Given the description of an element on the screen output the (x, y) to click on. 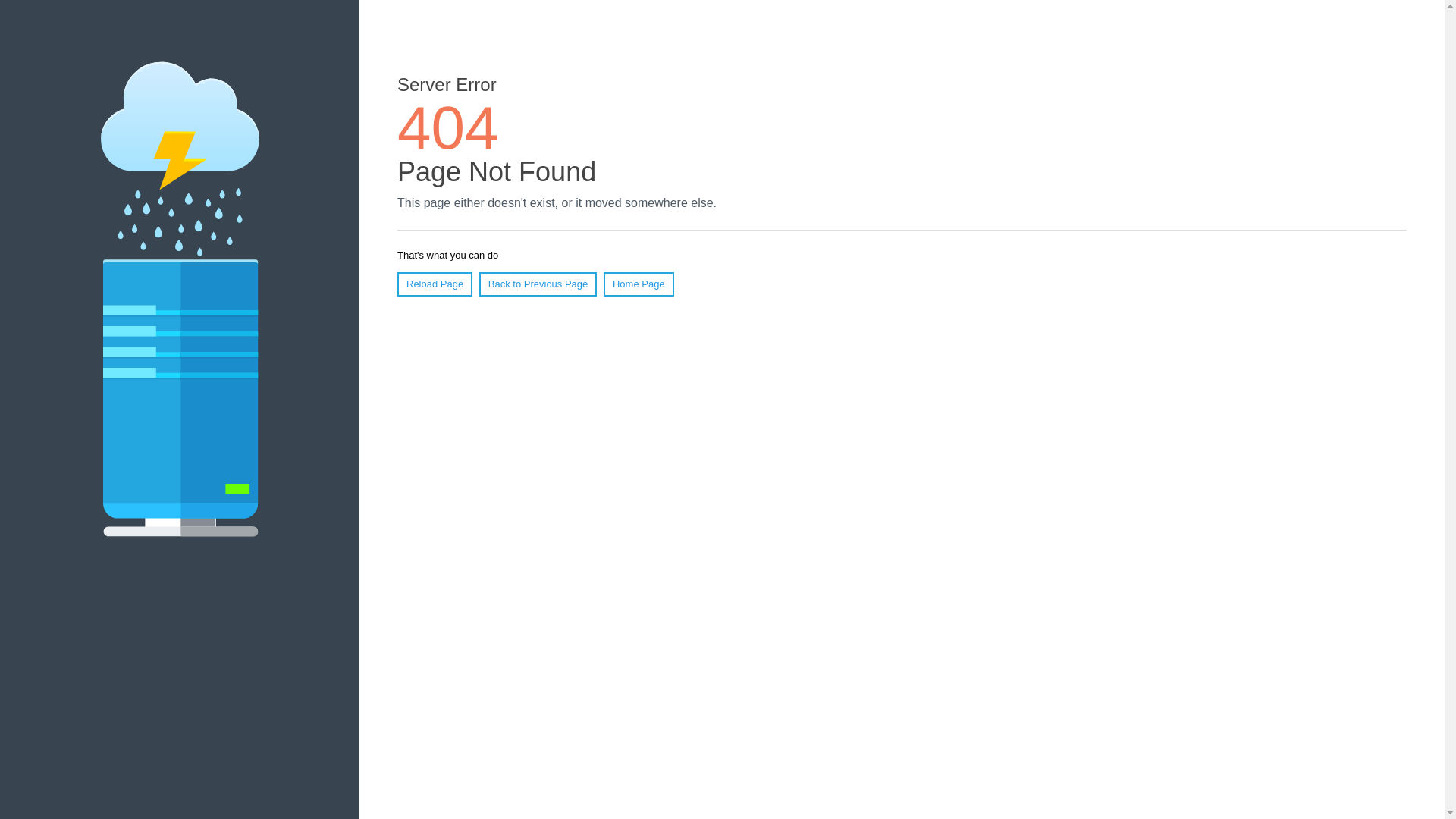
Home Page Element type: text (638, 284)
Back to Previous Page Element type: text (538, 284)
Reload Page Element type: text (434, 284)
